Given the description of an element on the screen output the (x, y) to click on. 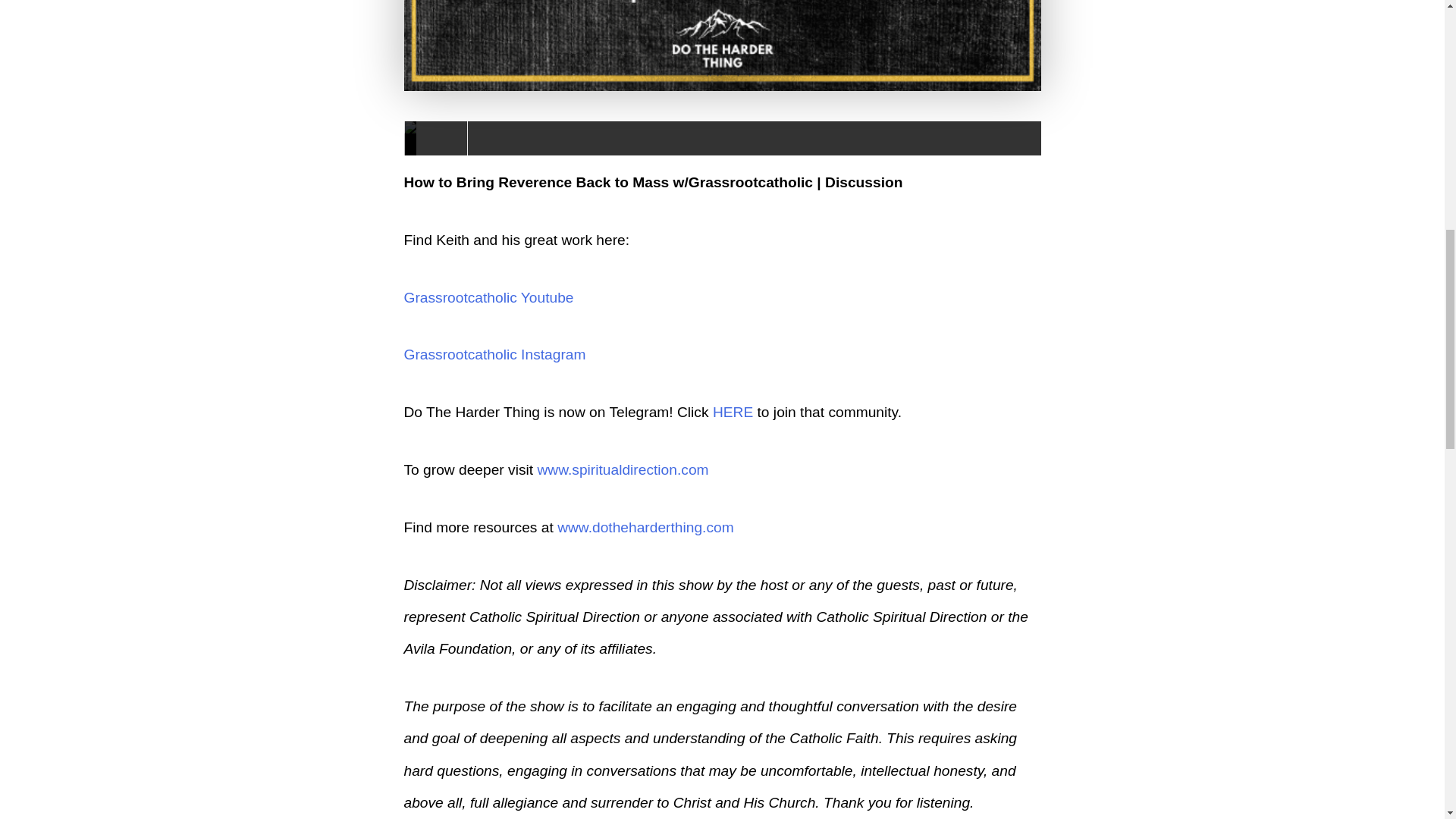
Libsyn Player (722, 138)
